Given the description of an element on the screen output the (x, y) to click on. 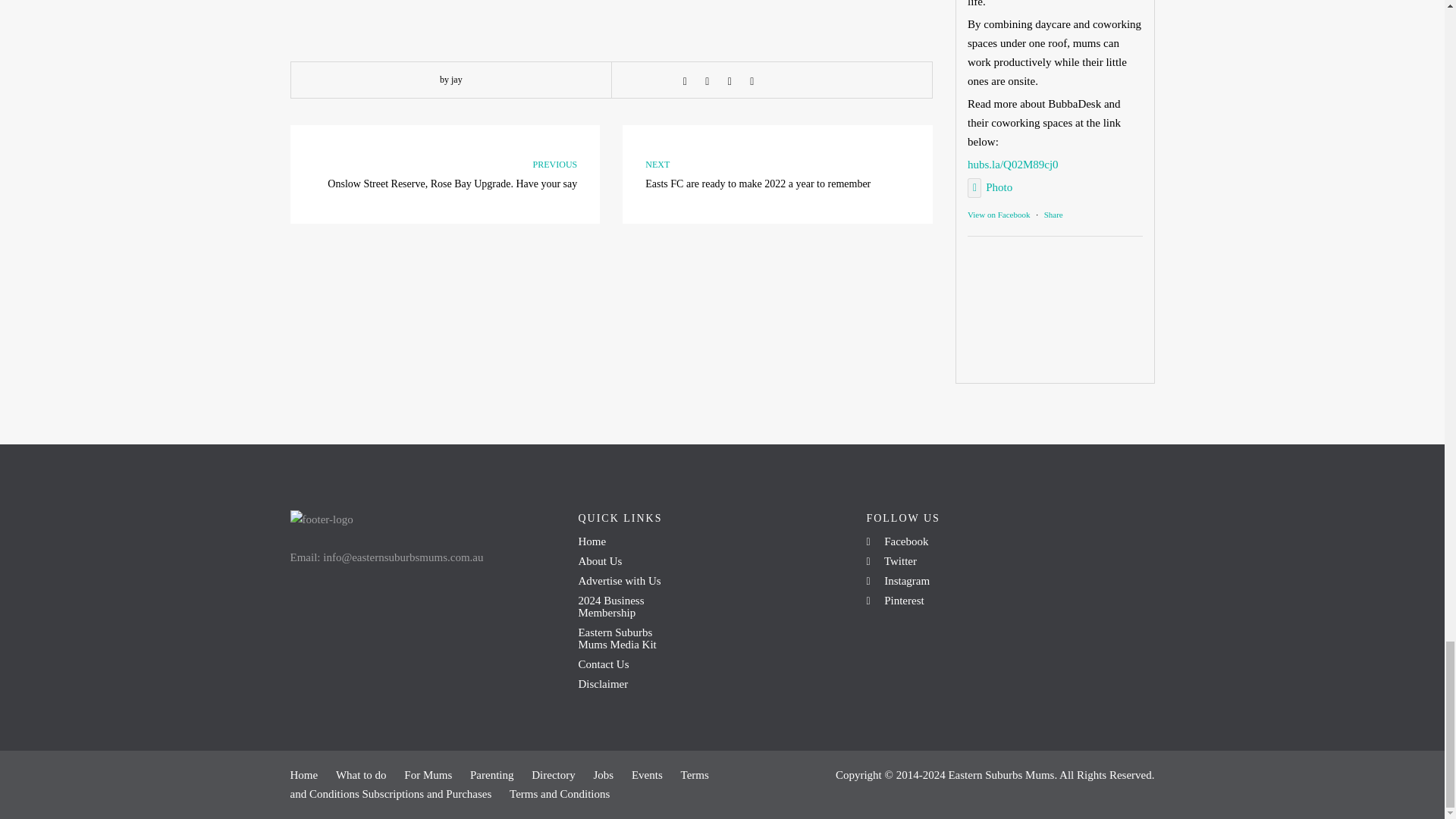
Tweet this (707, 80)
Share this (684, 80)
Pin this (751, 80)
Share with Google Plus (729, 80)
